Given the description of an element on the screen output the (x, y) to click on. 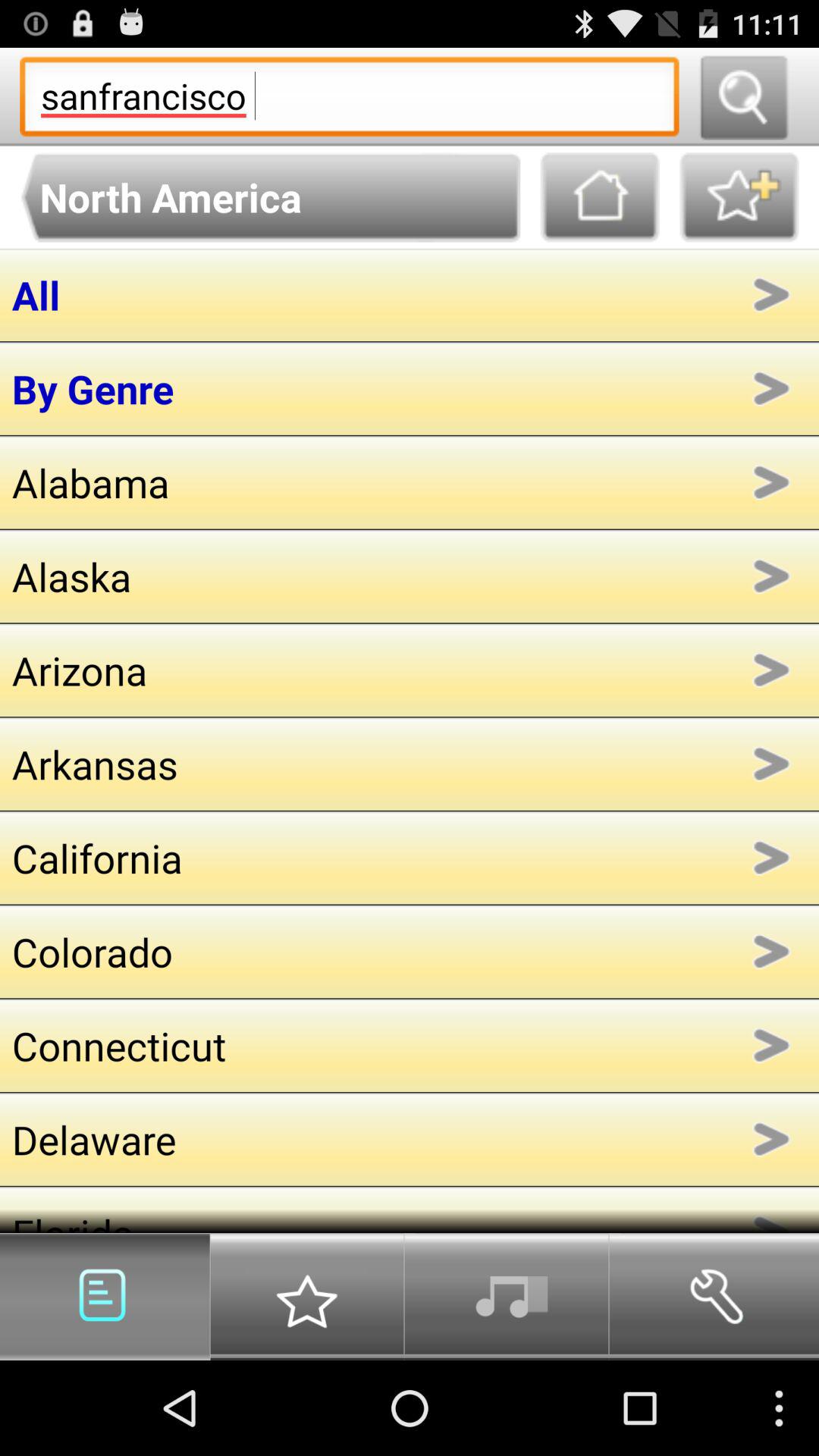
mark as favorite (739, 197)
